Given the description of an element on the screen output the (x, y) to click on. 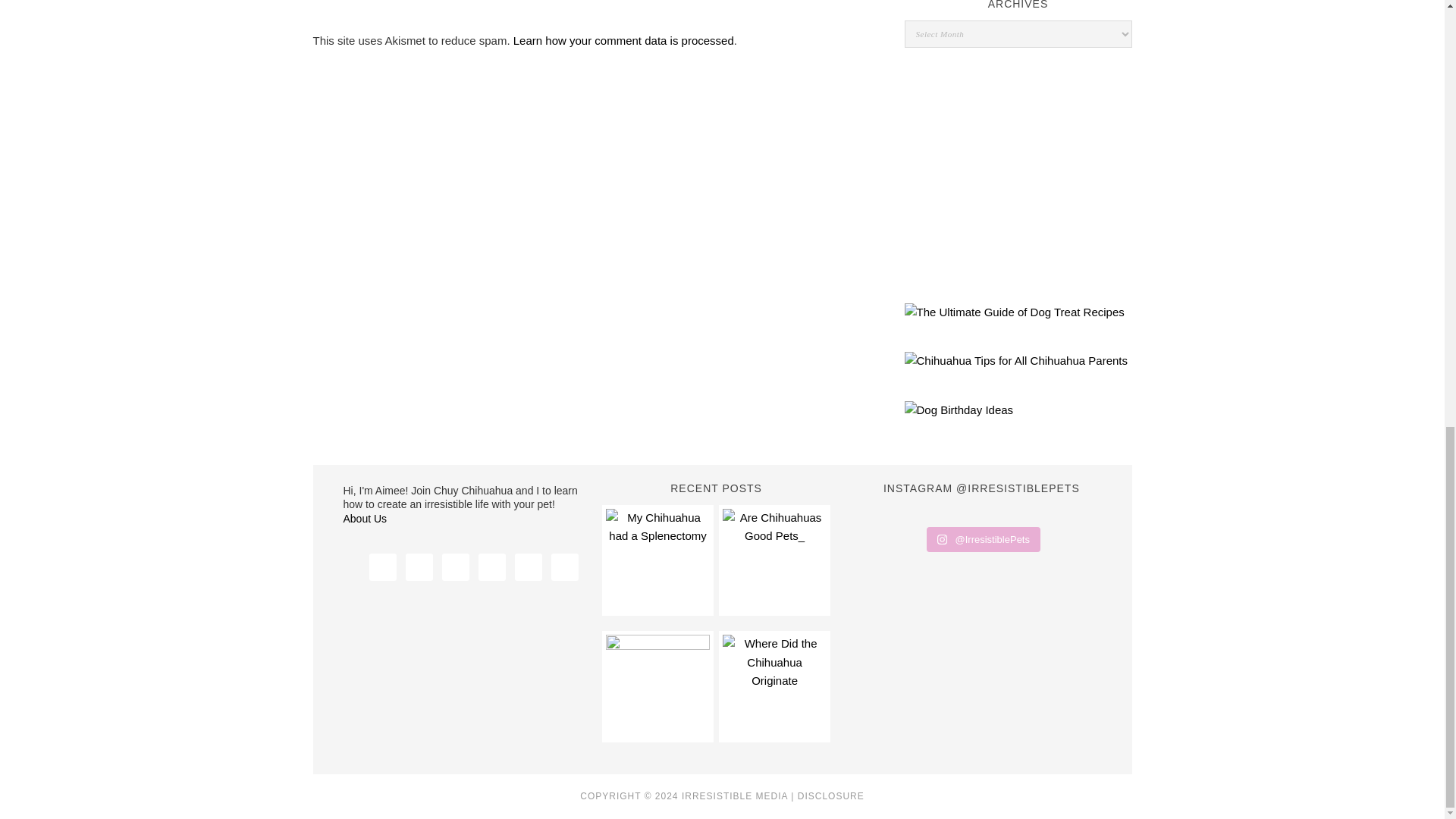
About Us (364, 518)
Learn how your comment data is processed (623, 40)
Where Did the Chihuahua Originate? (773, 685)
Are Chihuahuas Good Pets? (773, 559)
My Chihuahua Had a Splenectomy (657, 559)
